Given the description of an element on the screen output the (x, y) to click on. 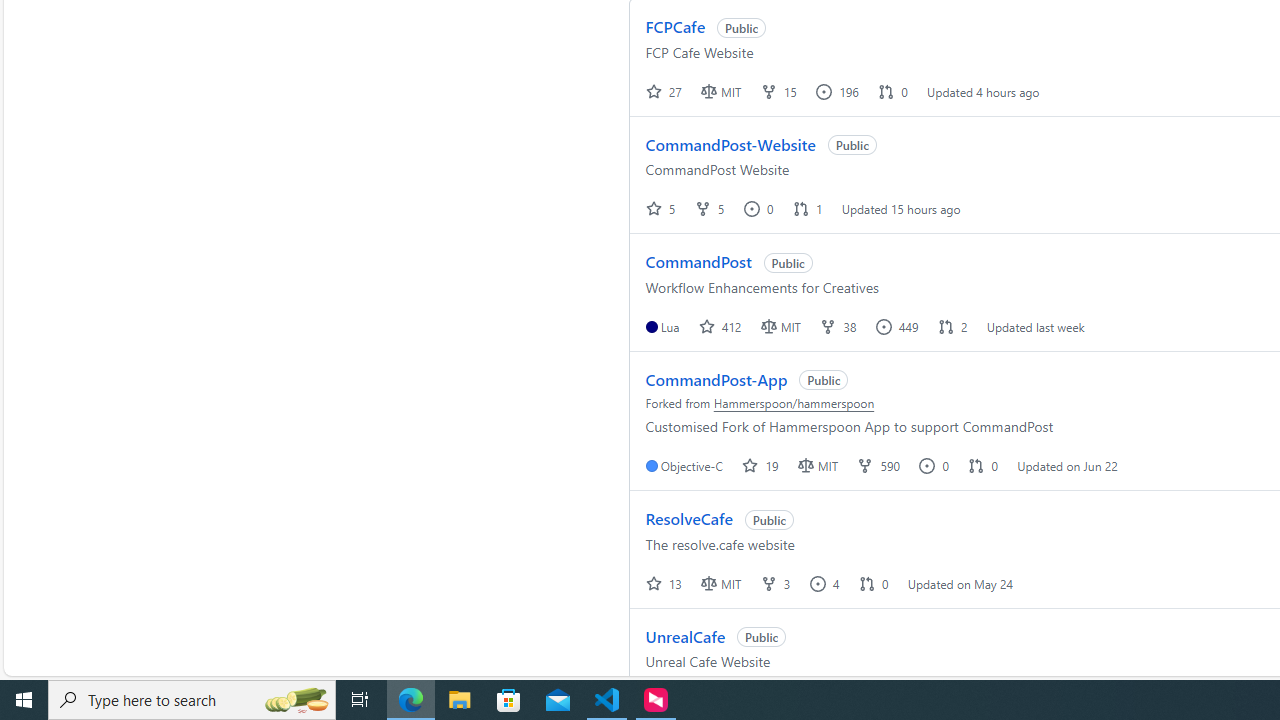
CommandPost-Website (730, 143)
fork 5  (710, 208)
 27  (665, 91)
fork (768, 583)
 13  (665, 583)
 449  (898, 326)
 4  (825, 583)
 5  (661, 208)
fork 590  (880, 465)
 19  (762, 465)
UnrealCafe (685, 636)
 196  (839, 91)
CommandPost (698, 261)
FCPCafe (675, 26)
 412  (720, 326)
